Given the description of an element on the screen output the (x, y) to click on. 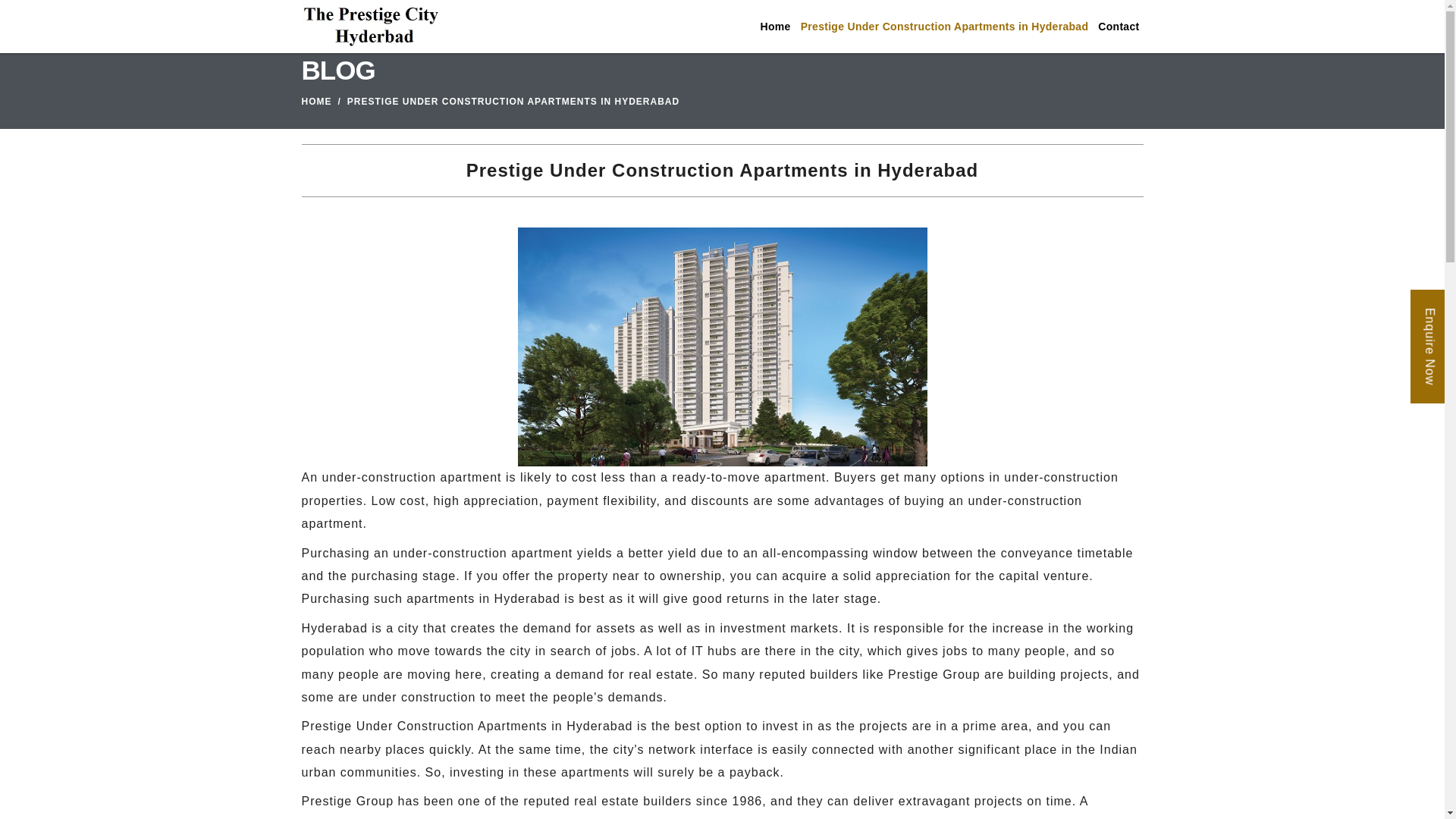
Prestige Under Construction Apartments in Hyderabad (943, 26)
The Prestige City Contact (1117, 26)
HOME (316, 101)
Contact (1117, 26)
Prestige Under Construction Apartments in Hyderabad (721, 346)
Prestige Under Construction Apartments in Hyderabad (943, 26)
